Given the description of an element on the screen output the (x, y) to click on. 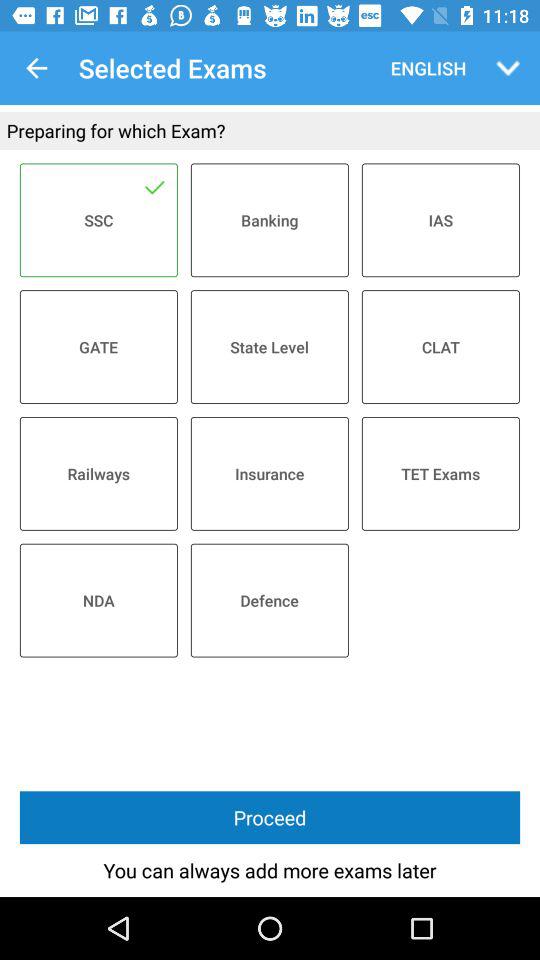
turn on the icon next to selected exams (36, 68)
